Given the description of an element on the screen output the (x, y) to click on. 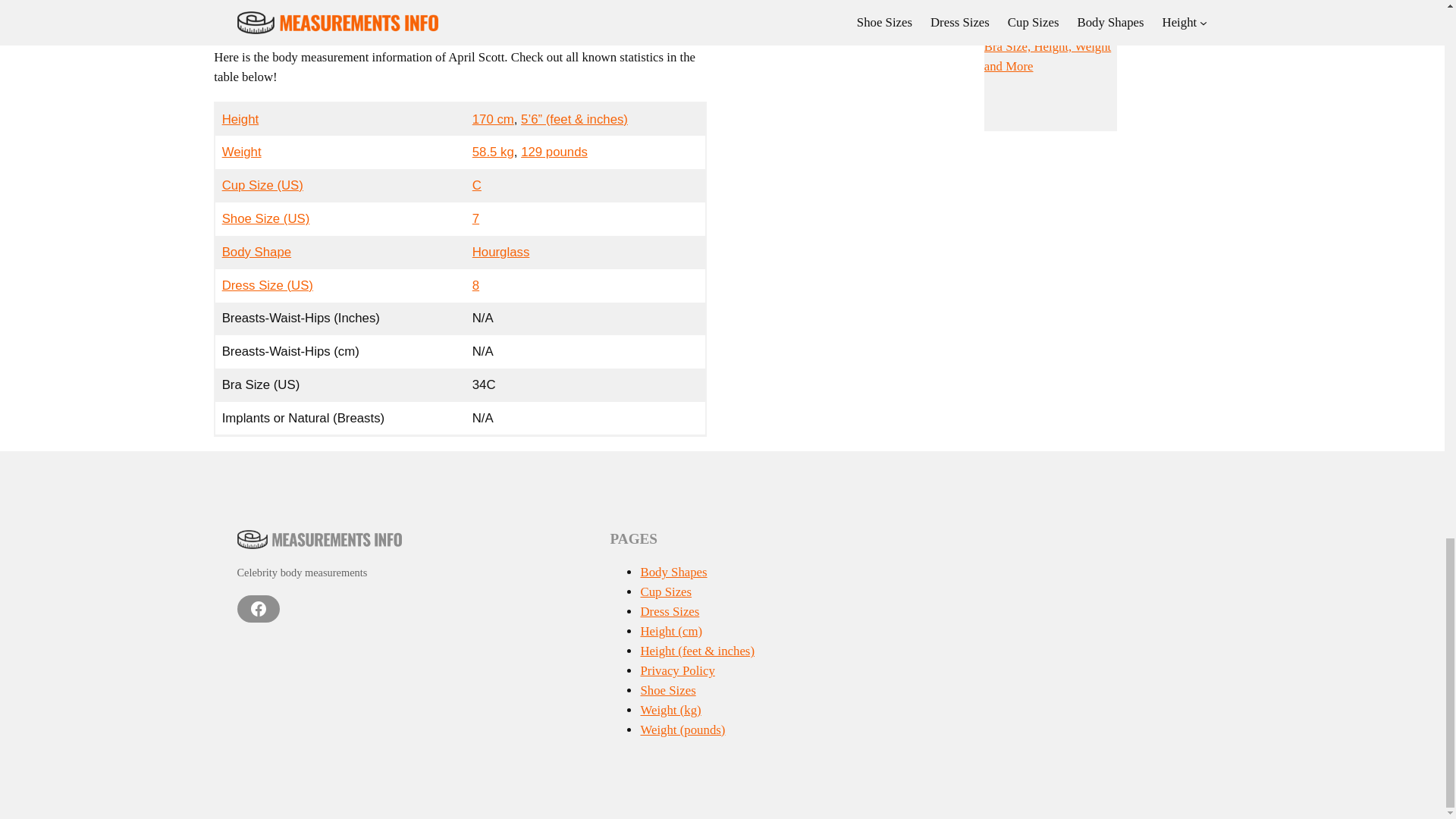
Height (240, 119)
170 cm (492, 119)
Body Shape (256, 251)
58.5 kg (492, 151)
129 pounds (554, 151)
Hourglass (500, 251)
Weight (242, 151)
